Given the description of an element on the screen output the (x, y) to click on. 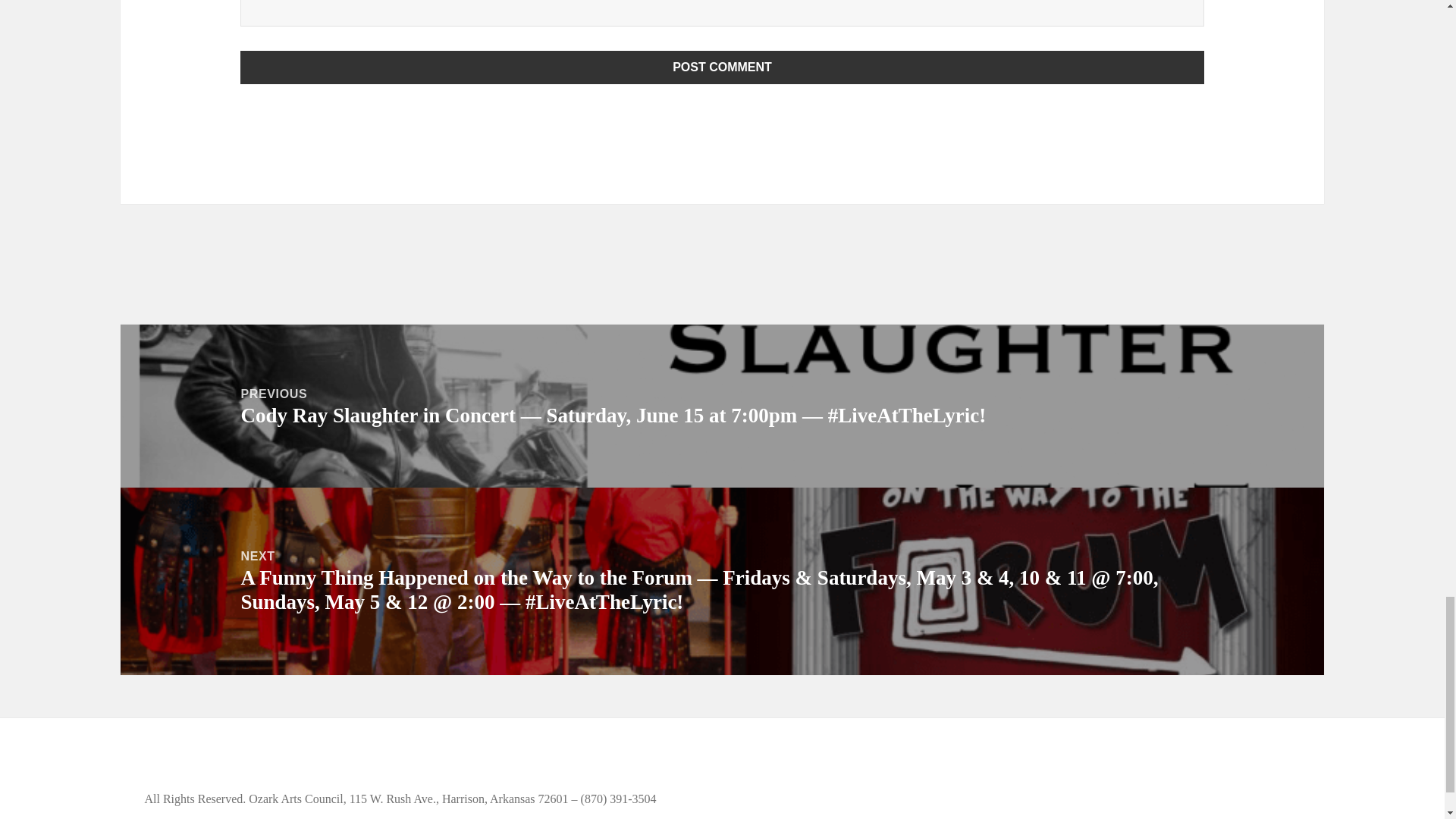
Post Comment (722, 67)
Post Comment (722, 67)
